Given the description of an element on the screen output the (x, y) to click on. 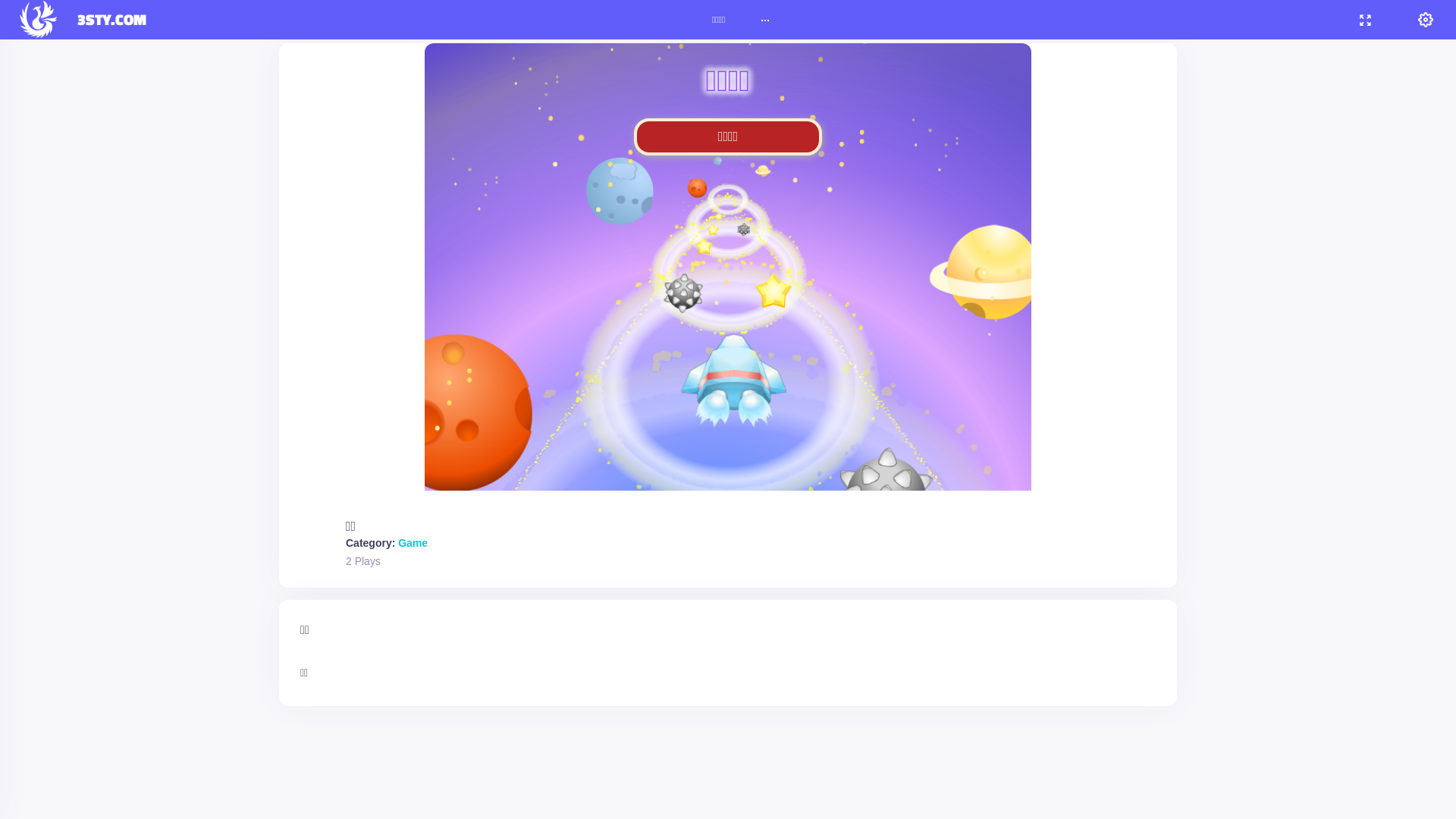
Game Element type: text (412, 542)
